Given the description of an element on the screen output the (x, y) to click on. 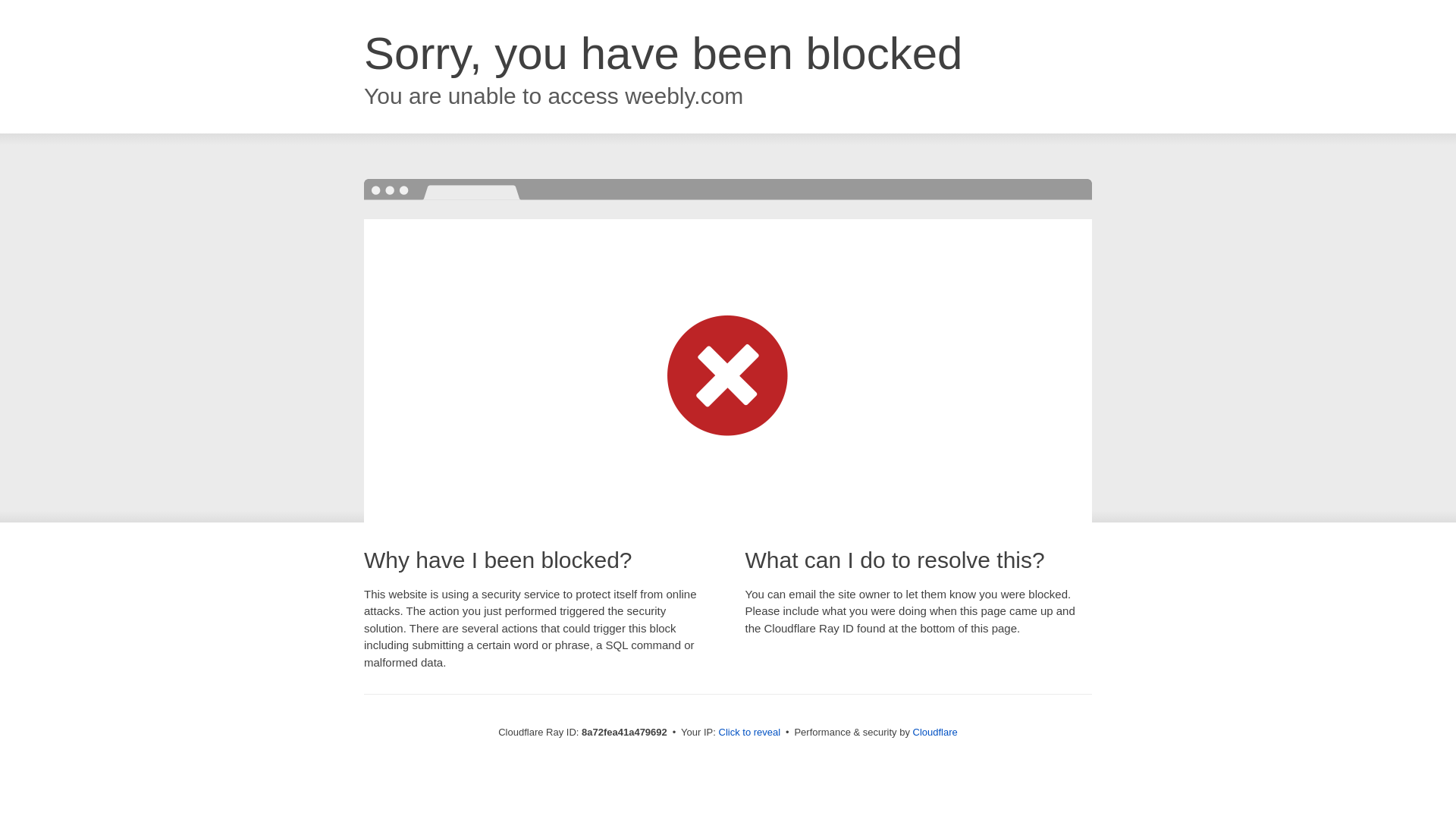
Cloudflare (935, 731)
Click to reveal (749, 732)
